Given the description of an element on the screen output the (x, y) to click on. 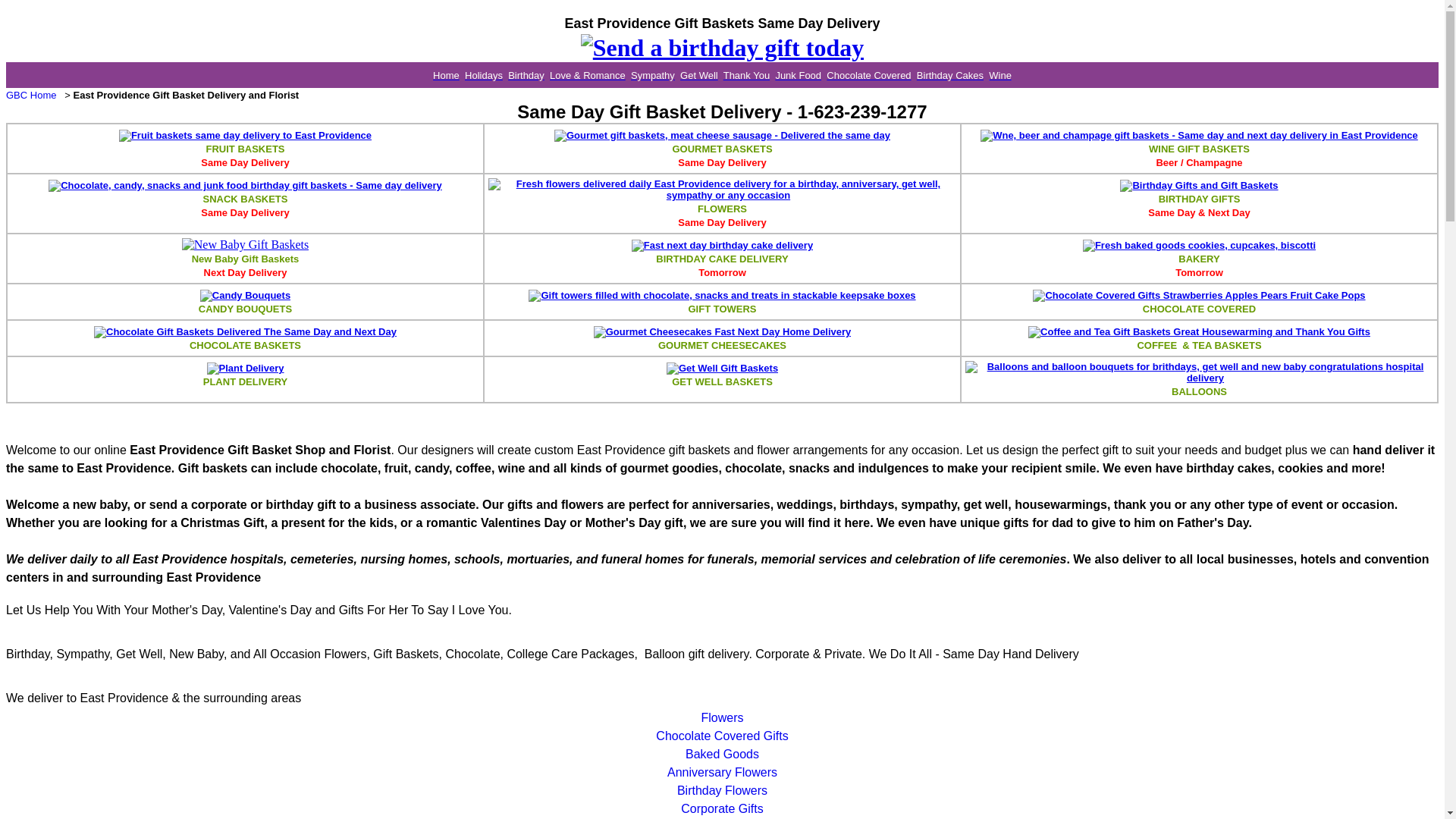
Anniversary Flowers (721, 771)
Birthday (526, 75)
Corporate Gifts (721, 808)
Birthday Flowers (722, 789)
Birthday Cakes (950, 75)
Home (446, 75)
Baked Goods (721, 753)
Holidays (483, 75)
GBC Home (30, 93)
Thank You (746, 75)
Junk Food (797, 74)
Chocolate Covered Gifts (721, 735)
Get Well (698, 75)
Flowers (721, 717)
Chocolate Covered (869, 75)
